Given the description of an element on the screen output the (x, y) to click on. 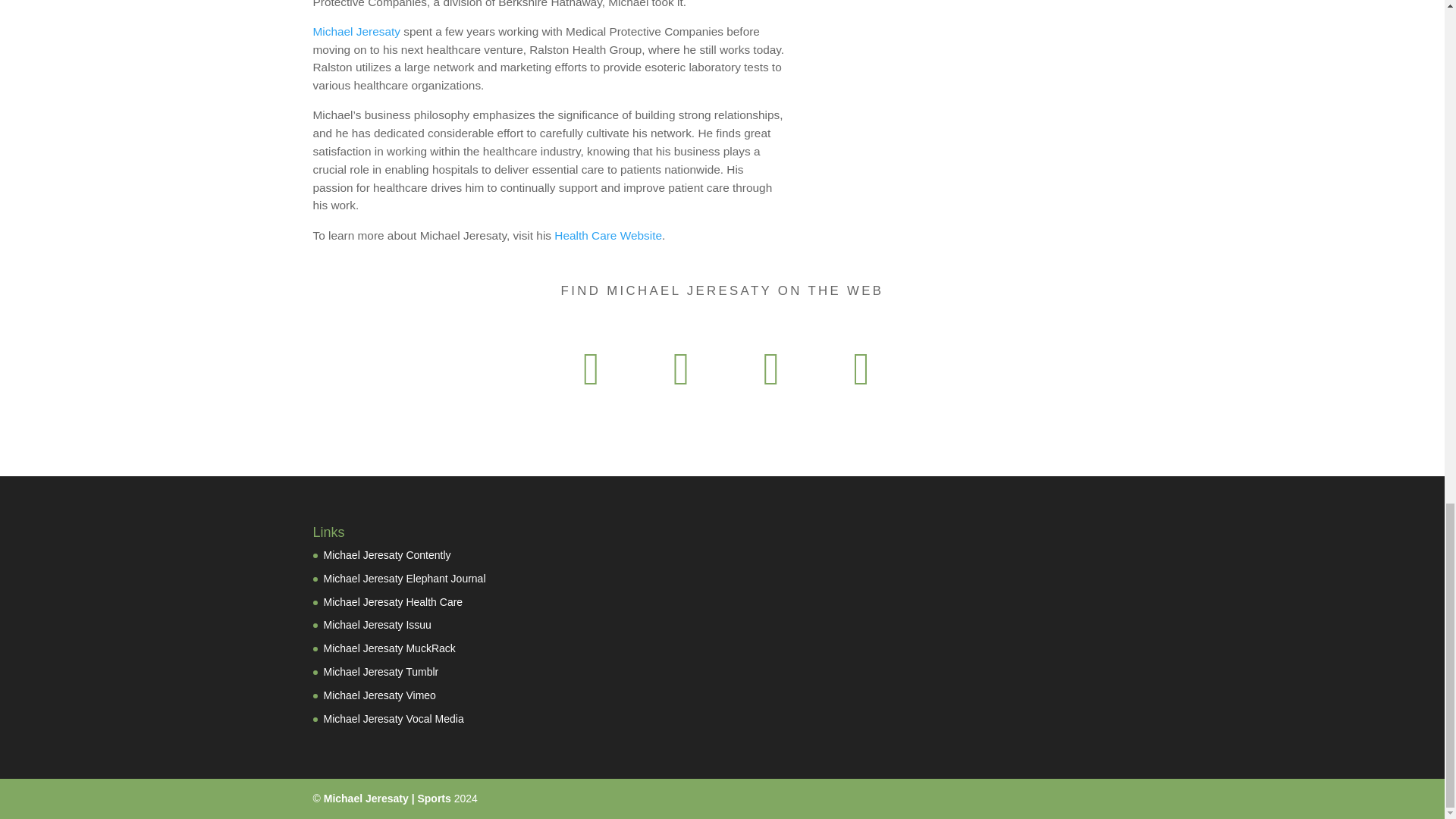
Michael Jeresaty Health Care (393, 602)
Michael Jeresaty Contently (386, 554)
Health Care Website (608, 235)
Michael Jeresaty Vimeo (379, 695)
Michael Jeresaty MuckRack (388, 648)
Michael Jeresaty Issuu (376, 624)
Michael Jeresaty (355, 31)
Michael Jeresaty Tumblr (380, 671)
Michael Jeresaty Elephant Journal (403, 578)
Michael Jeresaty Vocal Media (393, 718)
